Given the description of an element on the screen output the (x, y) to click on. 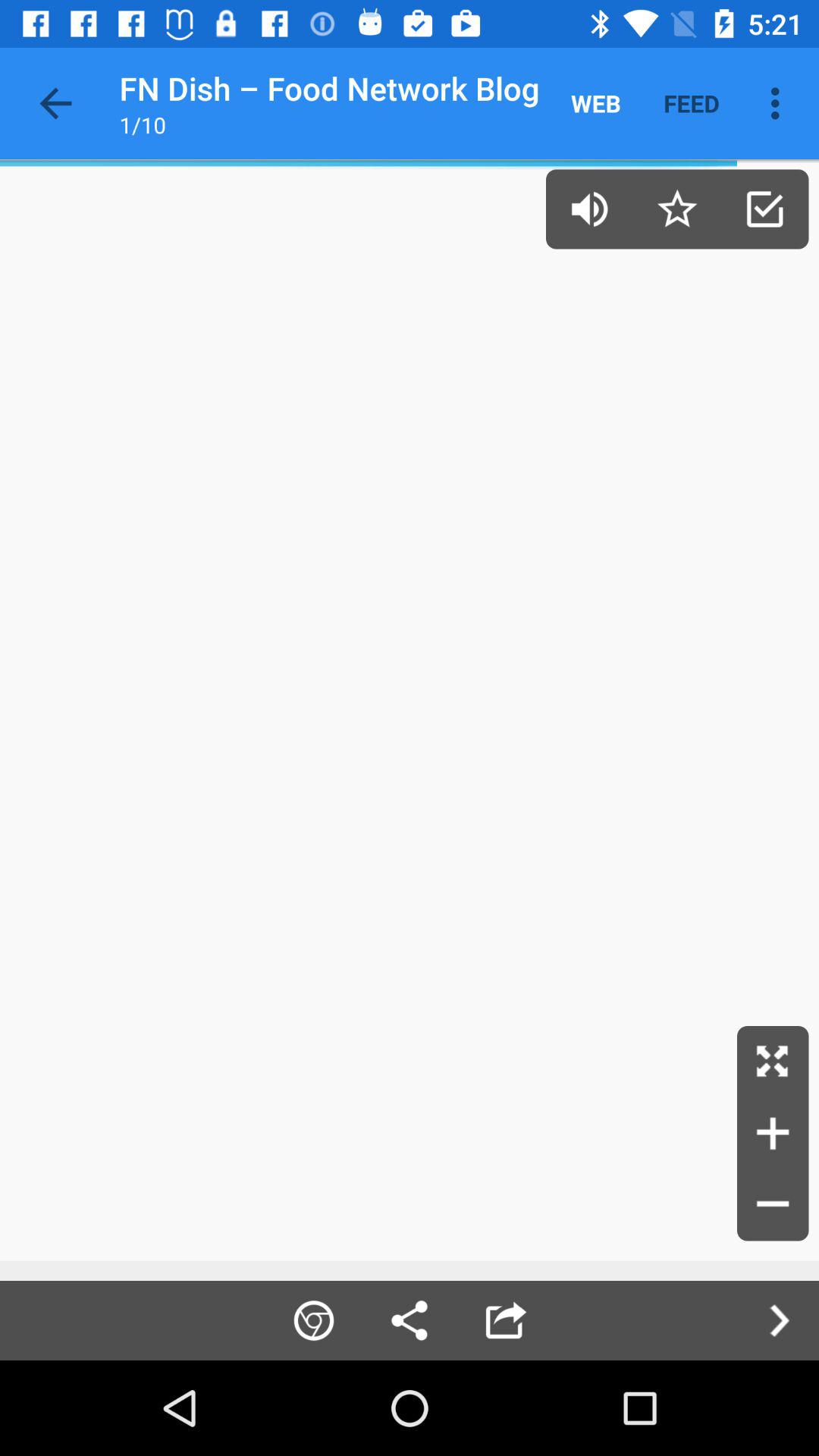
launch item to the right of web item (691, 103)
